Given the description of an element on the screen output the (x, y) to click on. 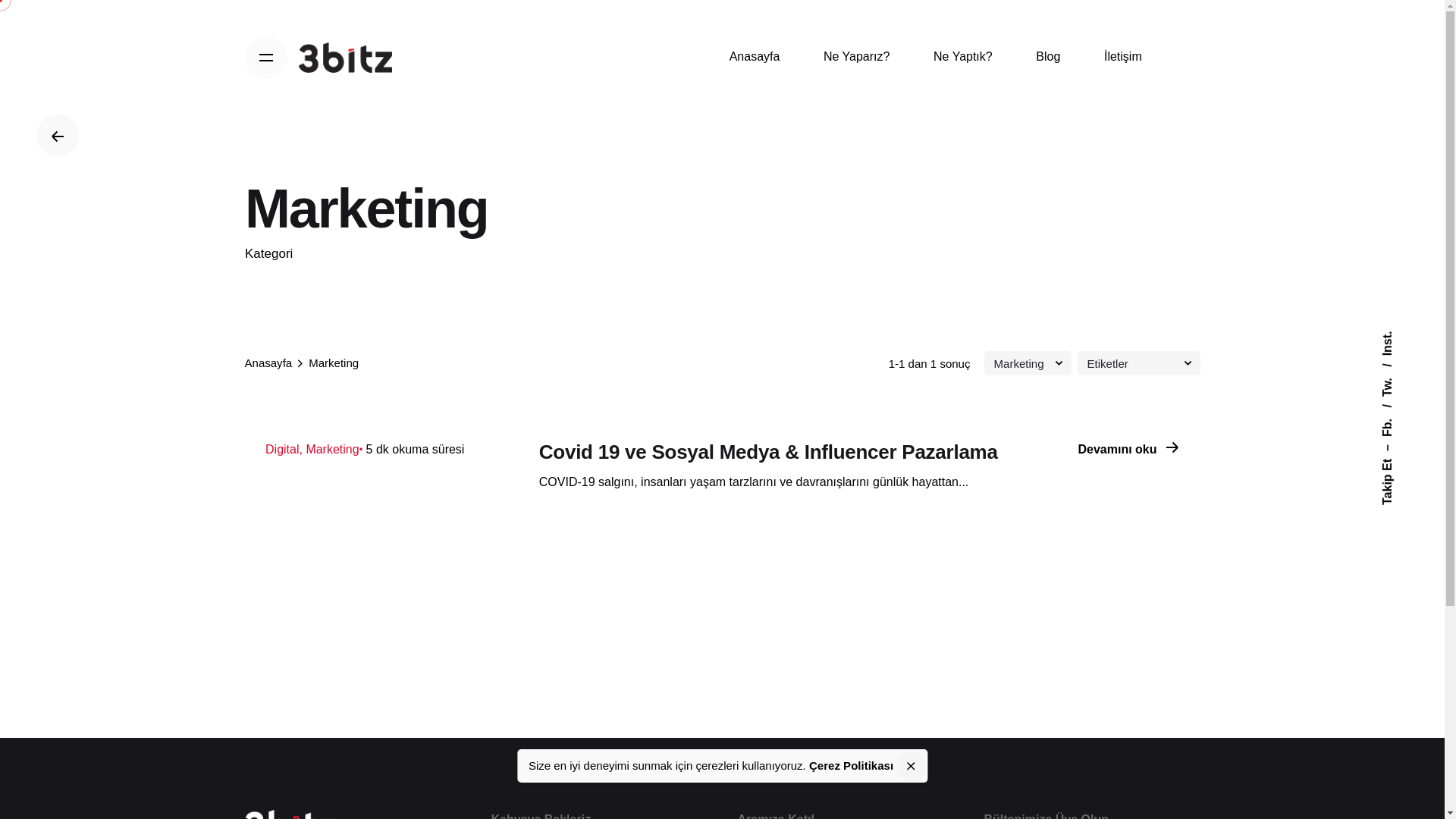
Tw. Element type: text (1396, 369)
Anasayfa Element type: text (267, 362)
Blog Element type: text (1048, 57)
Digital Element type: text (283, 448)
Marketing Element type: text (331, 448)
Fb. Element type: text (1396, 410)
Anasayfa Element type: text (754, 57)
Covid 19 ve Sosyal Medya & Influencer Pazarlama Element type: text (768, 451)
Inst. Element type: text (1392, 336)
